Given the description of an element on the screen output the (x, y) to click on. 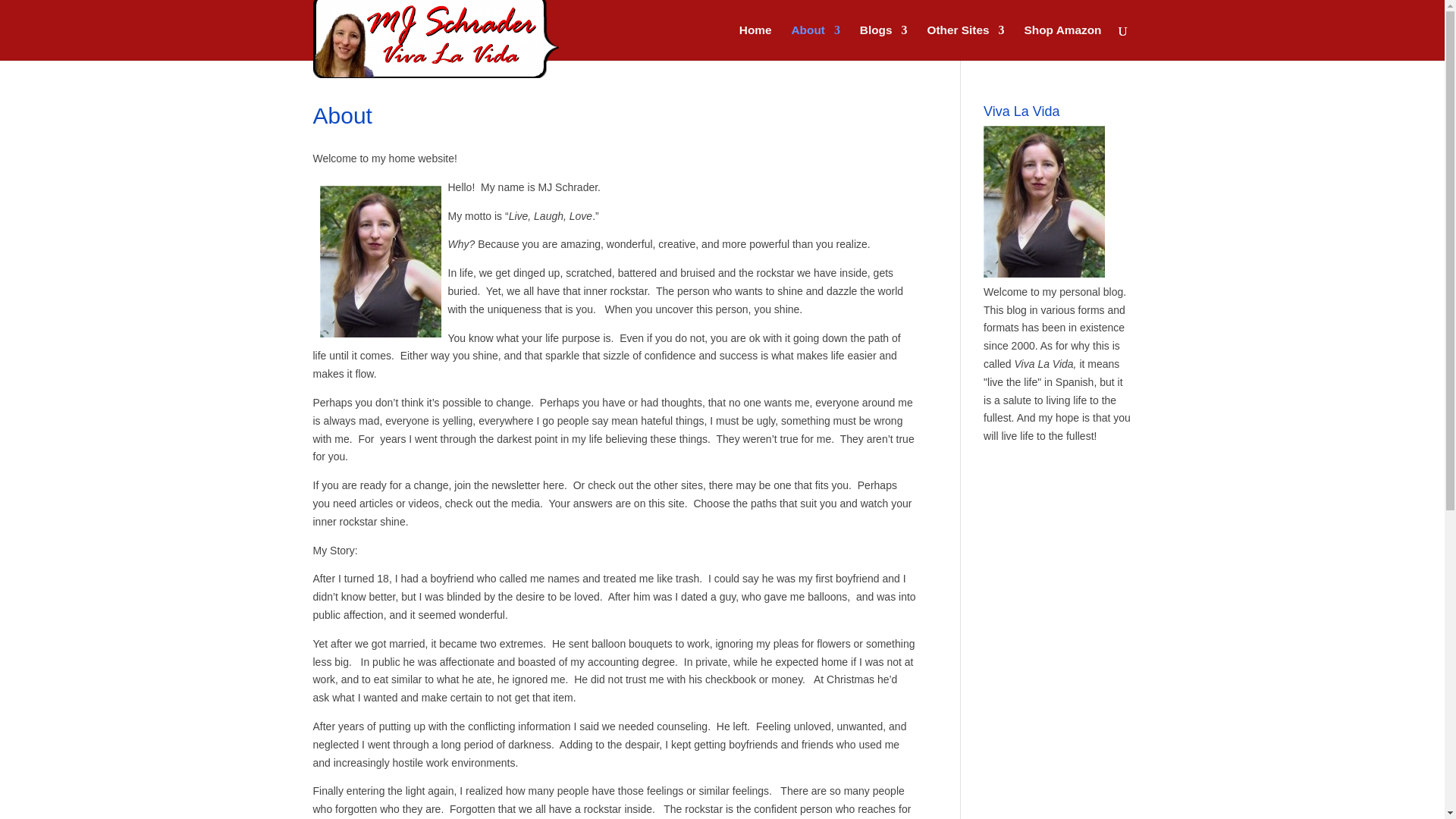
Blogs (883, 42)
About (815, 42)
Other Sites (965, 42)
Home (755, 42)
Shop Amazon (1061, 42)
